Given the description of an element on the screen output the (x, y) to click on. 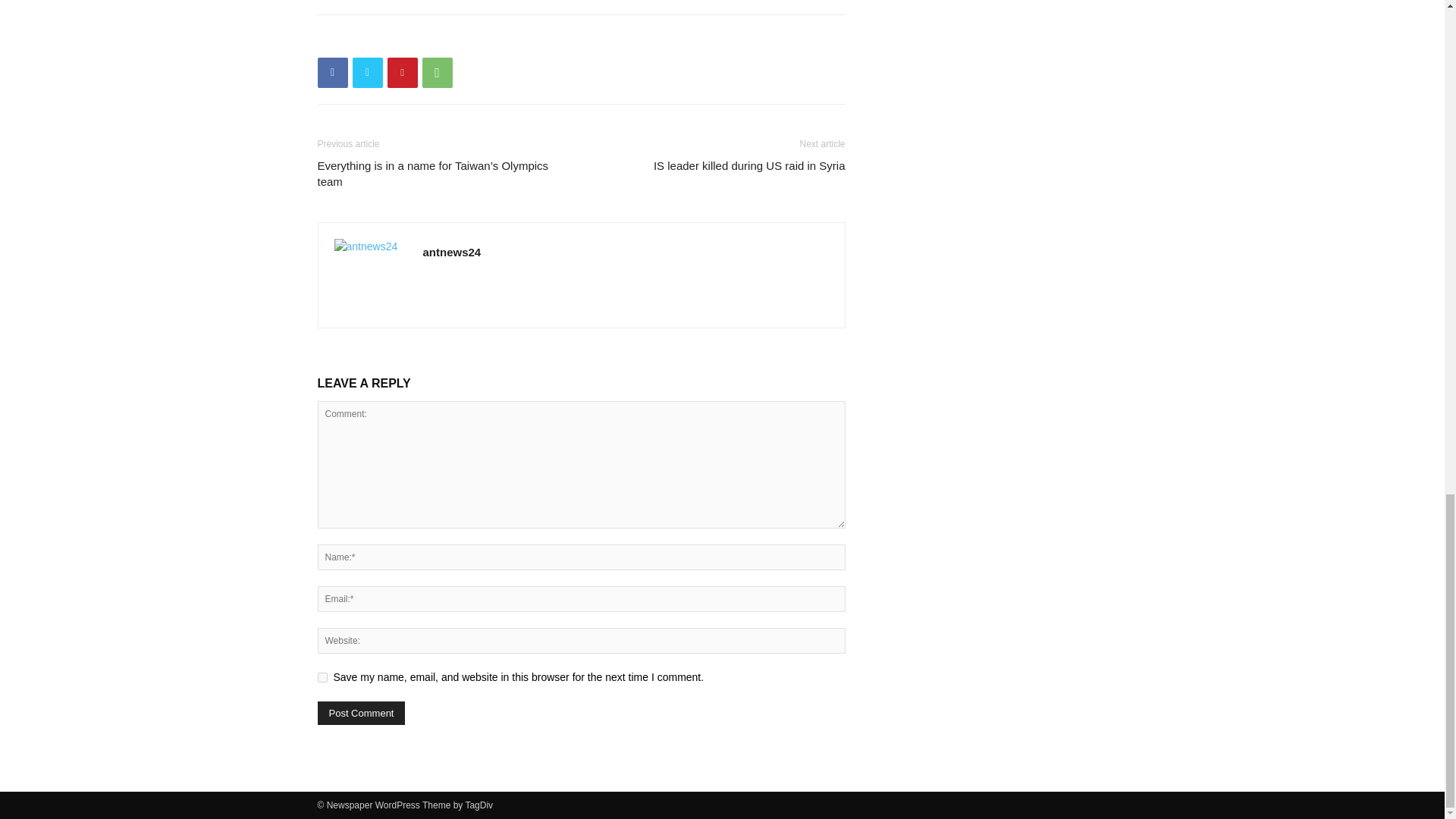
Pinterest (401, 72)
yes (321, 677)
IS leader killed during US raid in Syria (749, 165)
antnews24 (452, 251)
Twitter (366, 72)
WhatsApp (436, 72)
Post Comment (360, 712)
bottomFacebookLike (430, 38)
Post Comment (360, 712)
Facebook (332, 72)
